Given the description of an element on the screen output the (x, y) to click on. 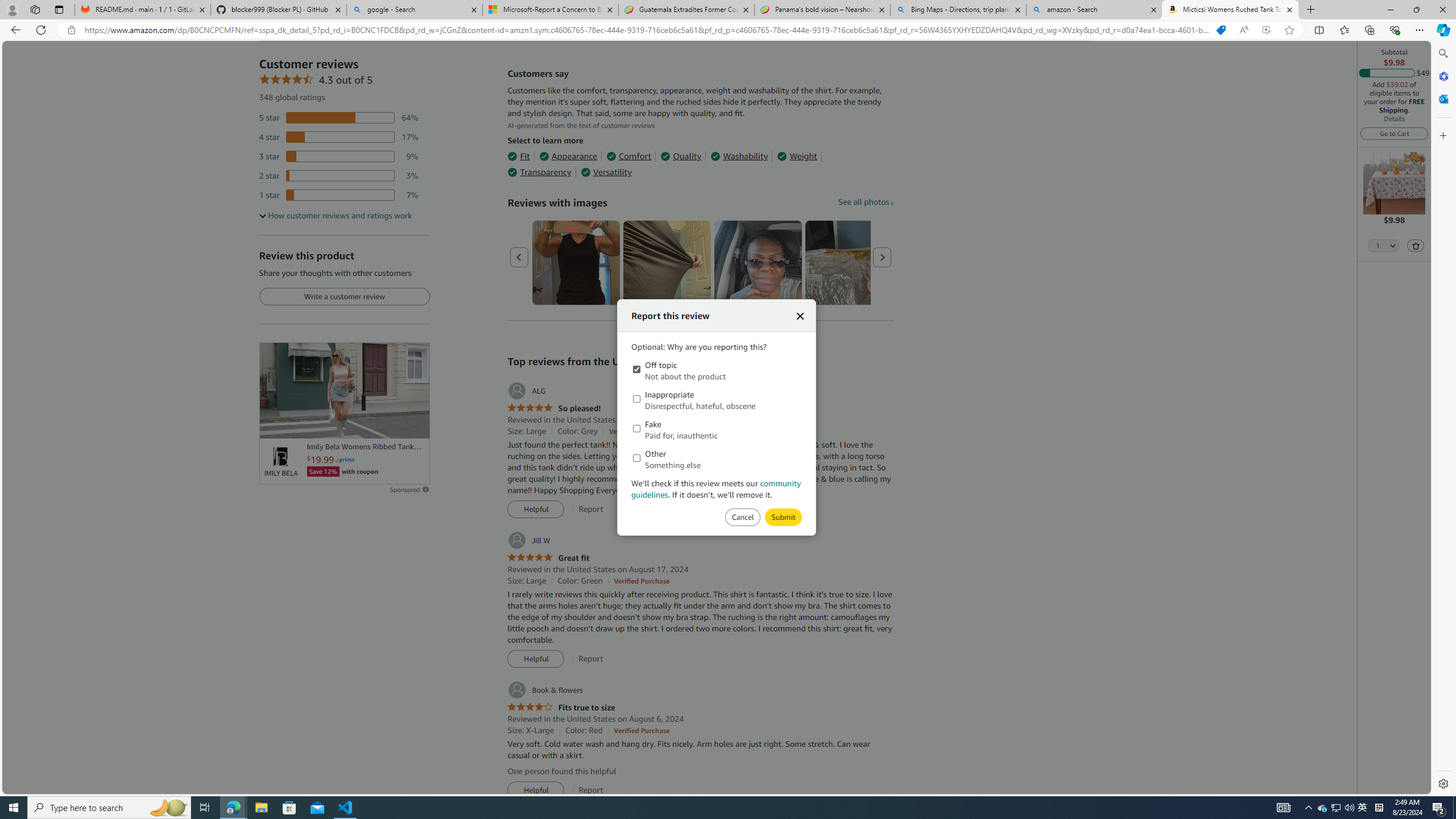
Submit (742, 517)
Washability (739, 156)
Prime (344, 459)
3 percent of reviews have 2 stars (339, 175)
Previous page (518, 256)
4.0 out of 5 stars Fits true to size (560, 707)
17 percent of reviews have 4 stars (339, 137)
Class: a-carousel-card (757, 262)
Verified Purchase (640, 730)
Transparency (539, 172)
Book & flowers (544, 690)
